Given the description of an element on the screen output the (x, y) to click on. 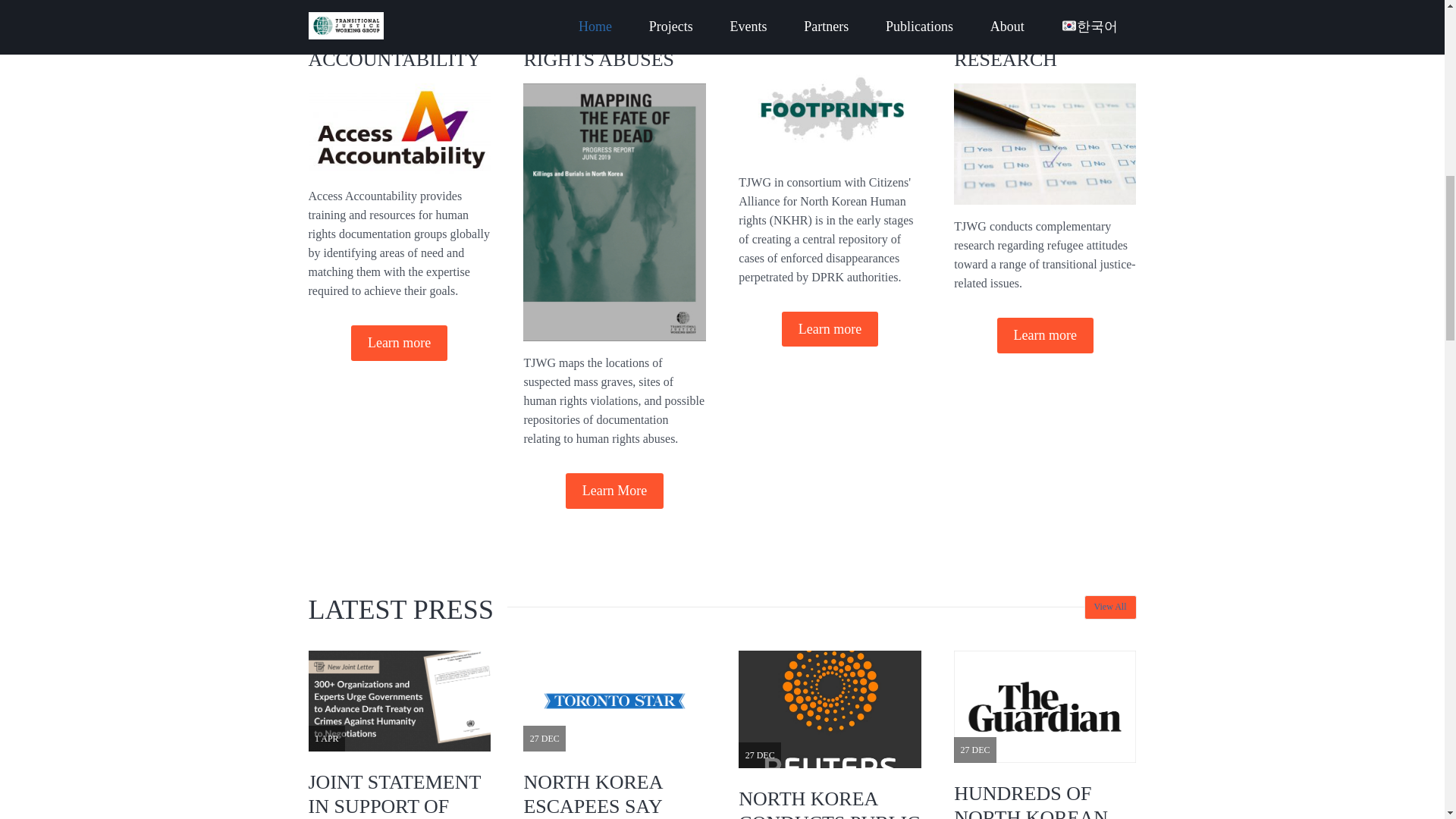
Learn more (398, 343)
View All (1110, 607)
Learn More (614, 490)
Learn more (1045, 334)
Learn more (829, 329)
